Given the description of an element on the screen output the (x, y) to click on. 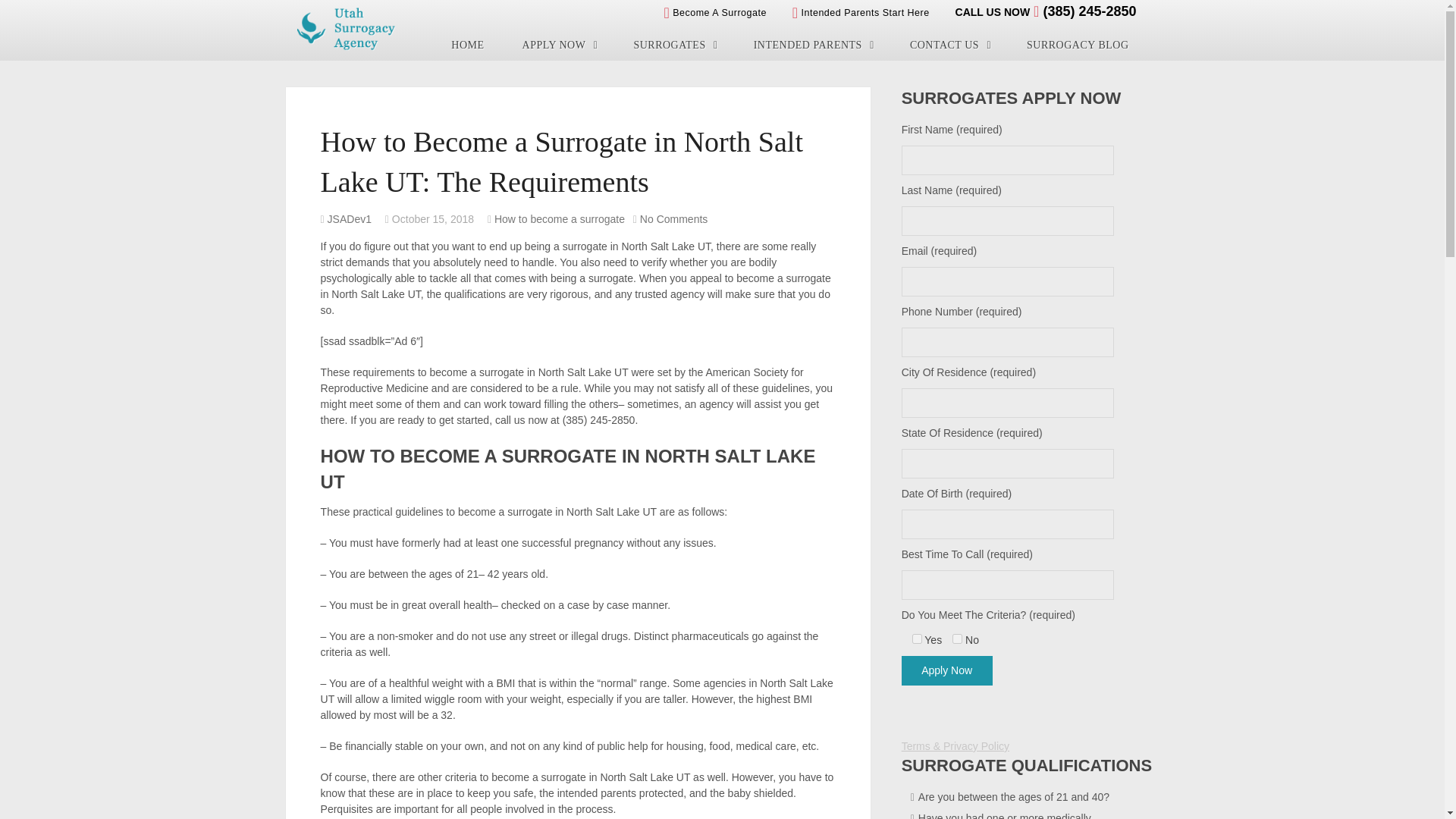
Intended Parents Start Here (861, 12)
Become A Surrogate (714, 12)
Yes (916, 638)
No (957, 638)
Surrogates Apply Now! (558, 45)
Posts by JSADev1 (349, 218)
View all posts in How to become a surrogate (559, 218)
Apply Now (946, 670)
